Given the description of an element on the screen output the (x, y) to click on. 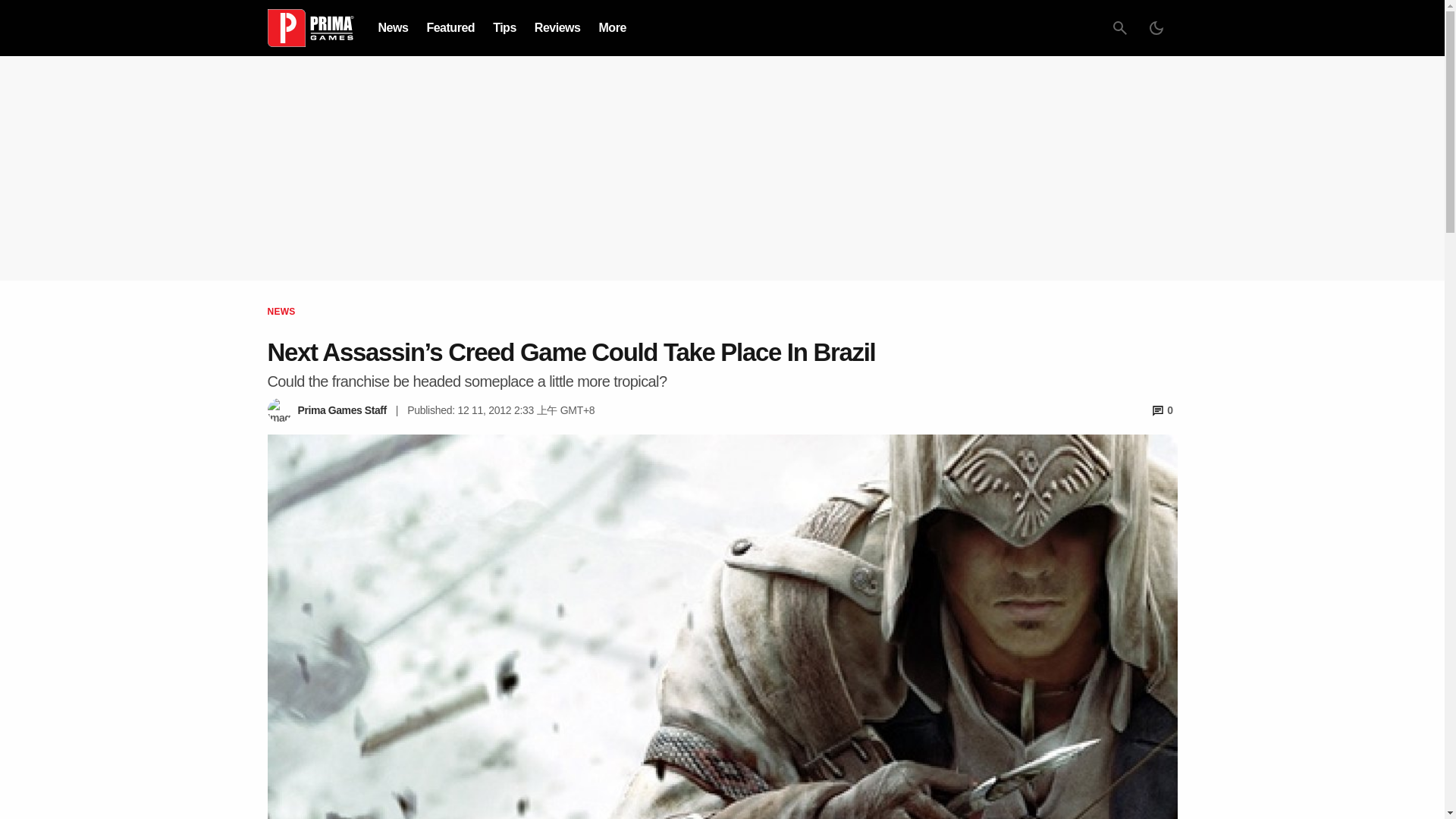
Dark Mode (1155, 28)
Tips (504, 27)
Search (1118, 28)
Reviews (557, 27)
Featured (450, 27)
News (392, 27)
